Given the description of an element on the screen output the (x, y) to click on. 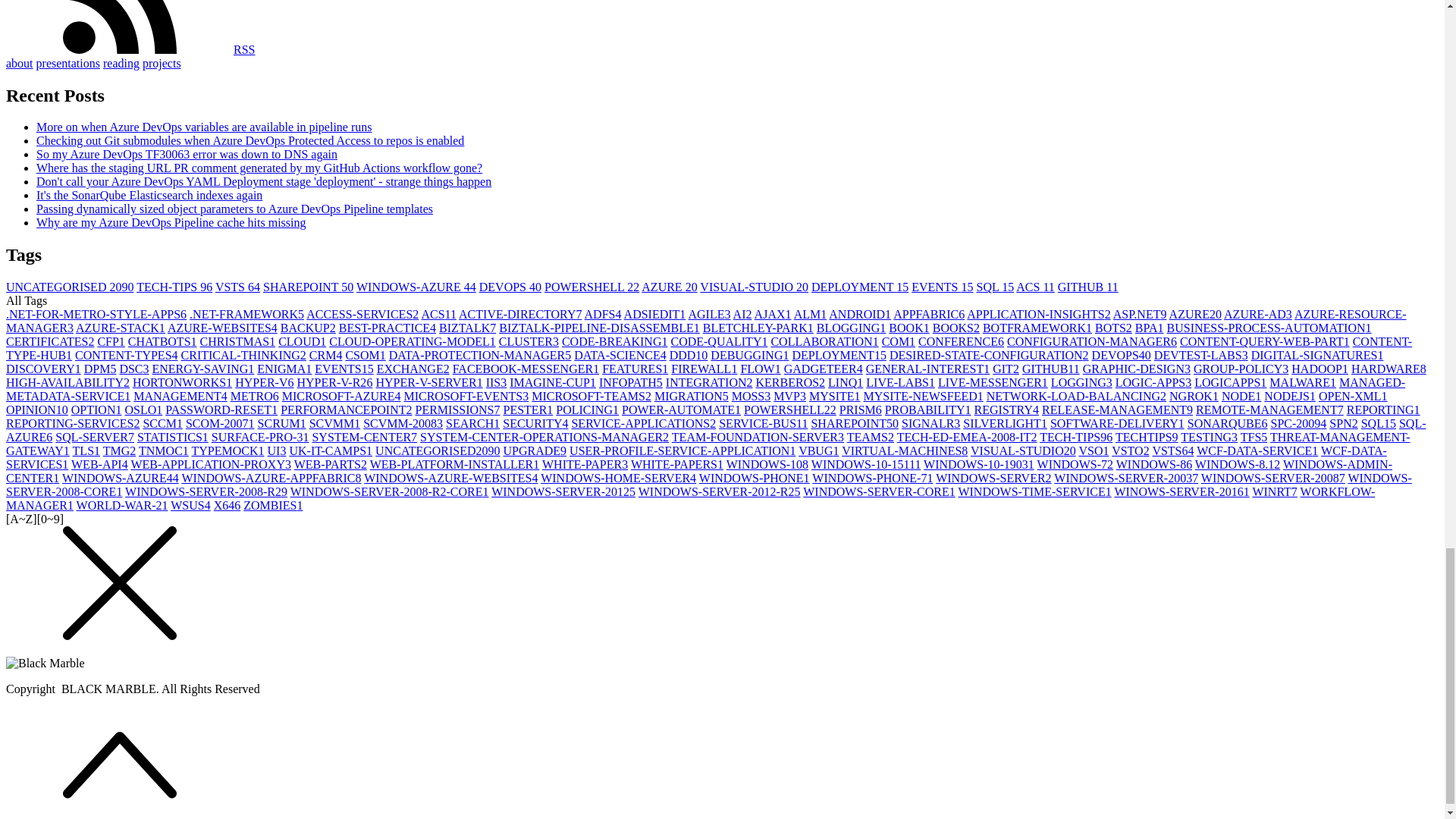
reading (121, 62)
It's the SonarQube Elasticsearch indexes again (149, 195)
It's the SonarQube Elasticsearch indexes again (149, 195)
projects (161, 62)
presentations (68, 62)
So my Azure DevOps TF30063 error was down to DNS again (186, 154)
about (19, 62)
SHAREPOINT 50 (308, 286)
reading (121, 62)
UNCATEGORISED 2090 (69, 286)
AZURE 20 (669, 286)
